Given the description of an element on the screen output the (x, y) to click on. 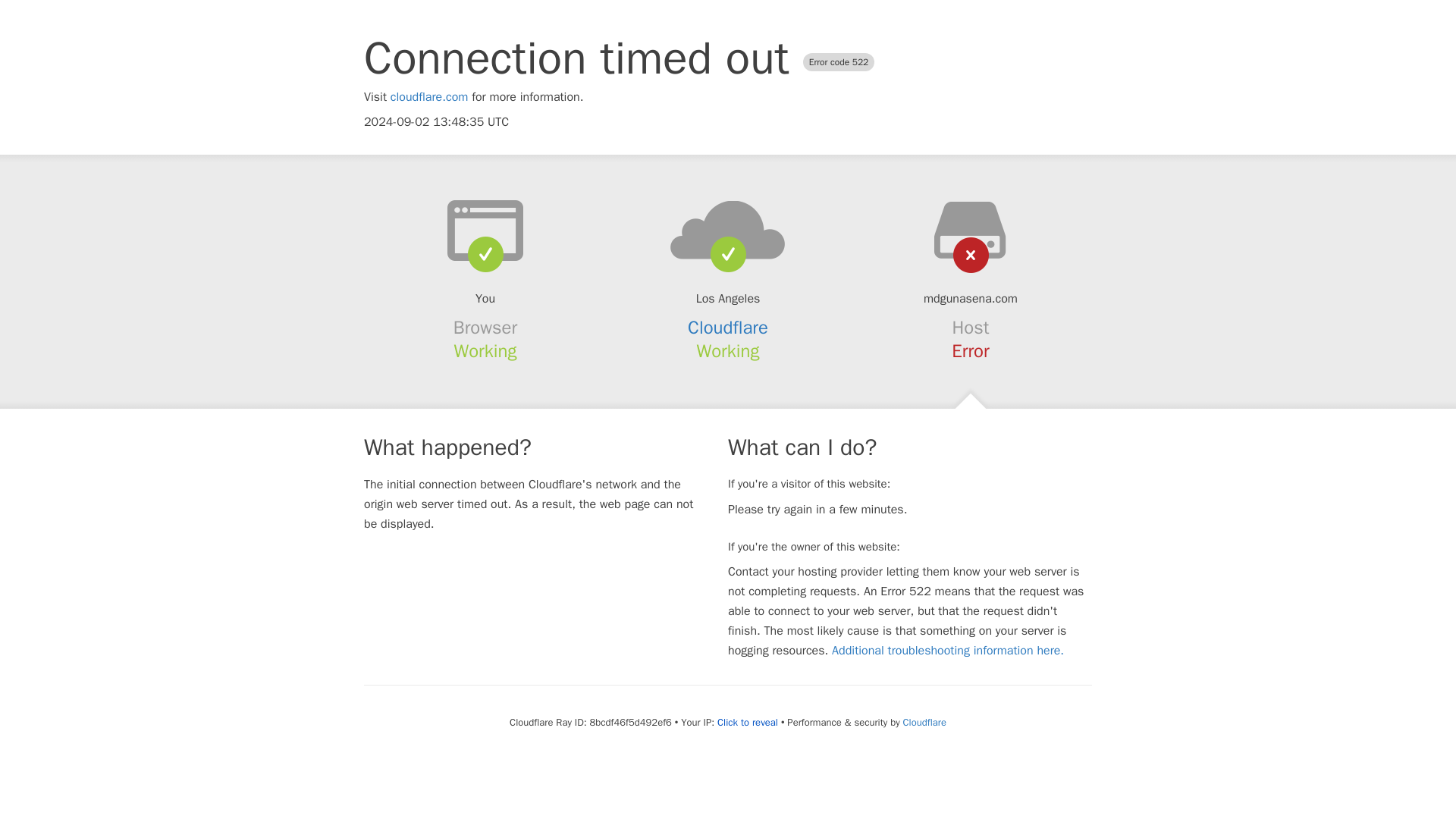
Click to reveal (747, 722)
cloudflare.com (429, 96)
Cloudflare (924, 721)
Cloudflare (727, 327)
Additional troubleshooting information here. (947, 650)
